Given the description of an element on the screen output the (x, y) to click on. 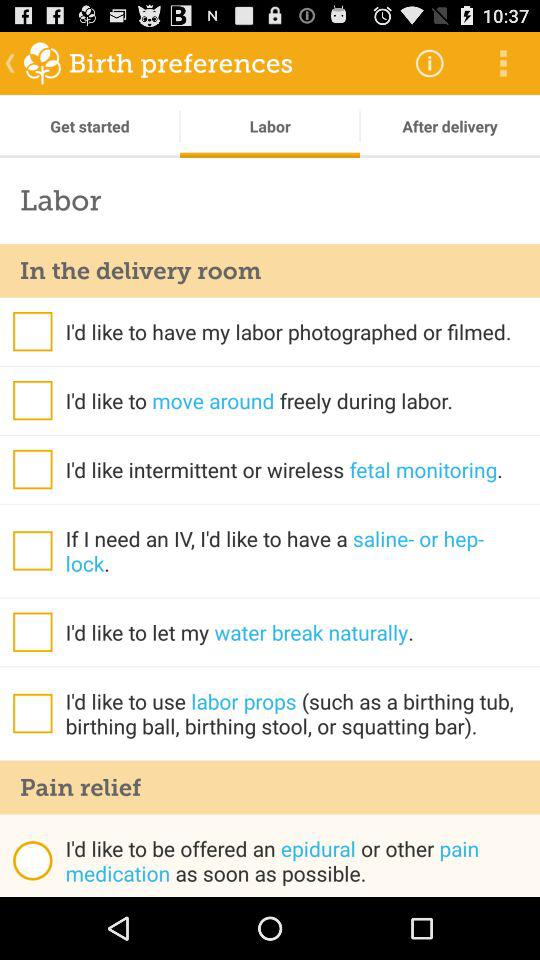
select option (32, 713)
